Given the description of an element on the screen output the (x, y) to click on. 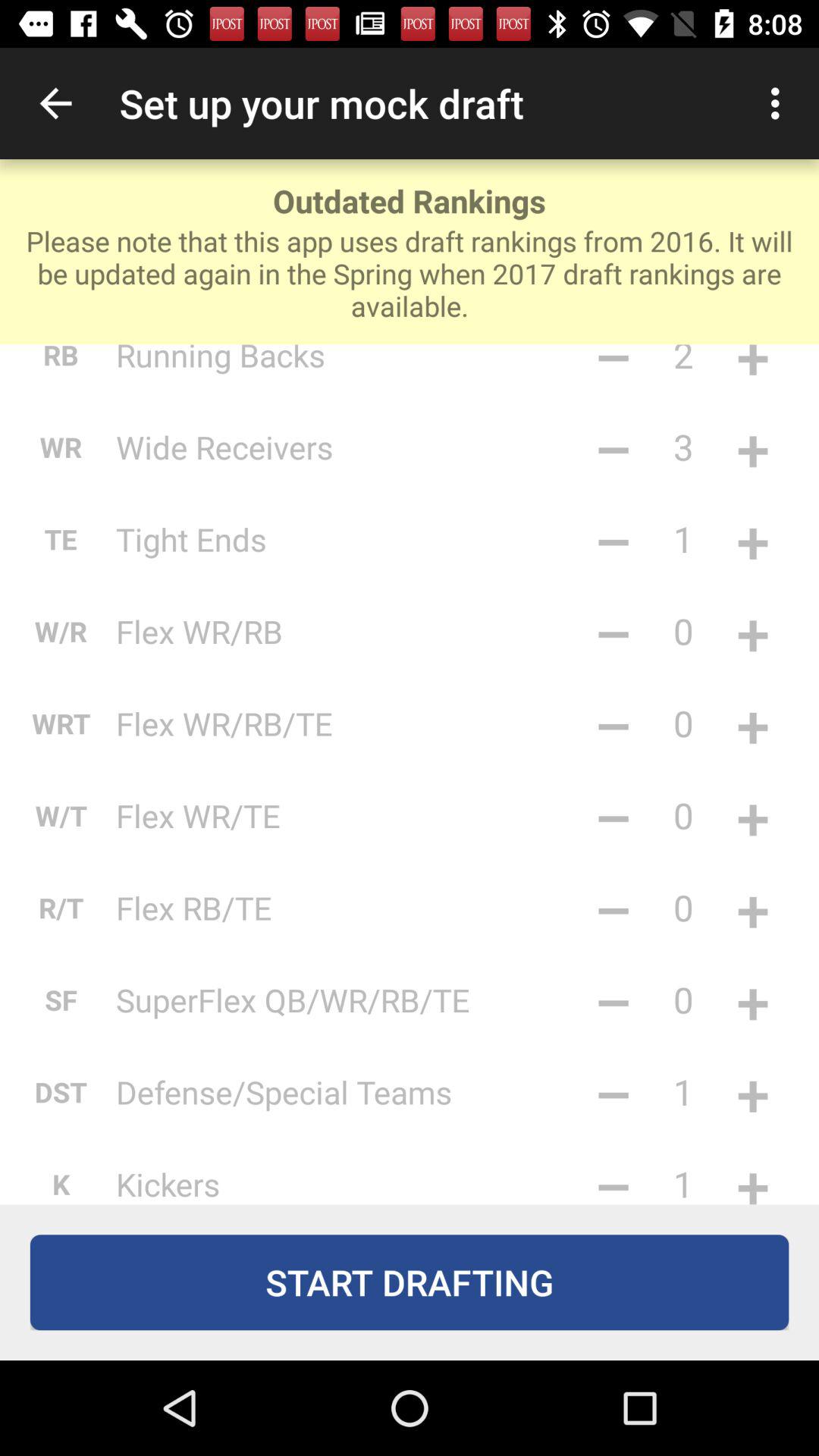
launch item next to 1 icon (613, 1091)
